Given the description of an element on the screen output the (x, y) to click on. 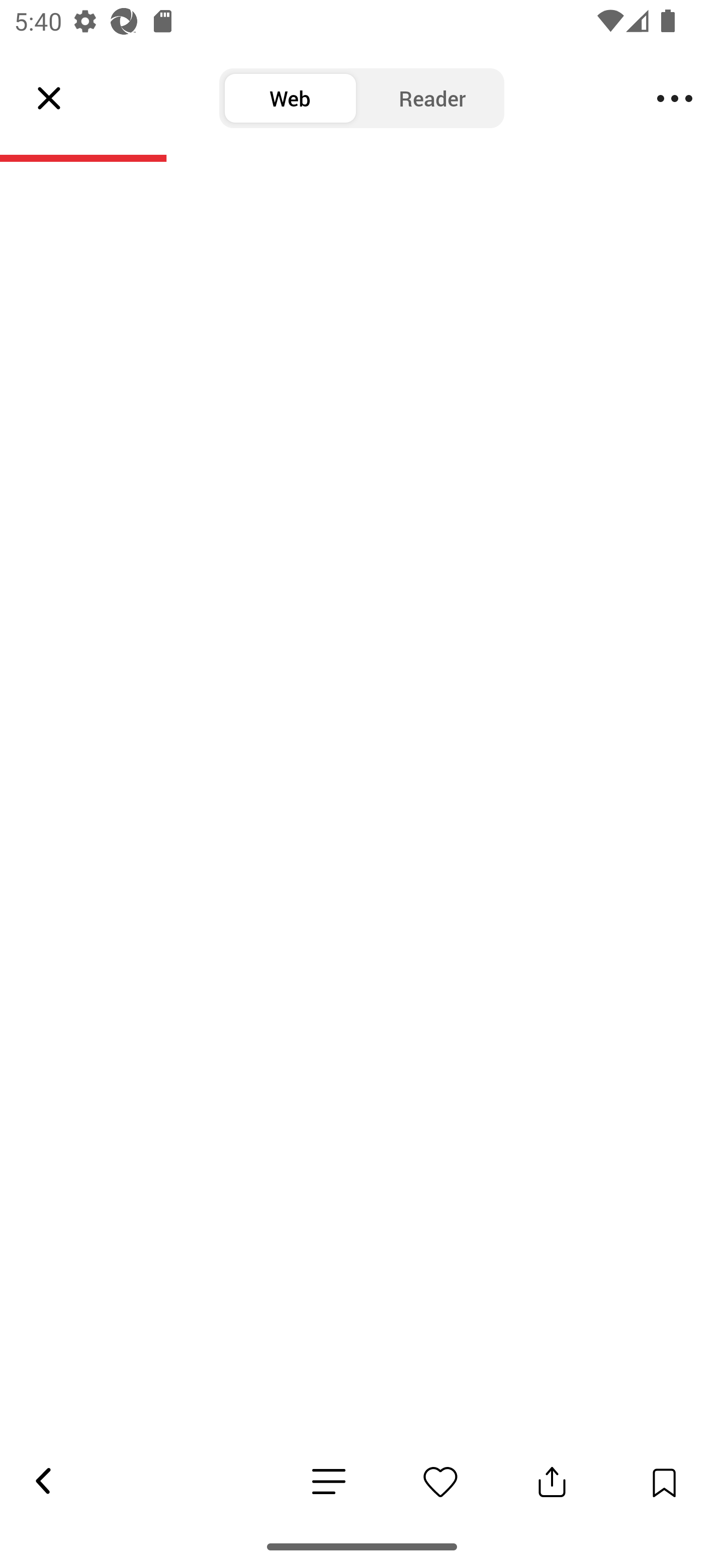
Reader (432, 98)
Menu (674, 98)
Leading Icon (49, 98)
Back Button (42, 1481)
News Detail Emotion (440, 1481)
Share Button (551, 1481)
Save Button (663, 1481)
News Detail Emotion (329, 1482)
